Given the description of an element on the screen output the (x, y) to click on. 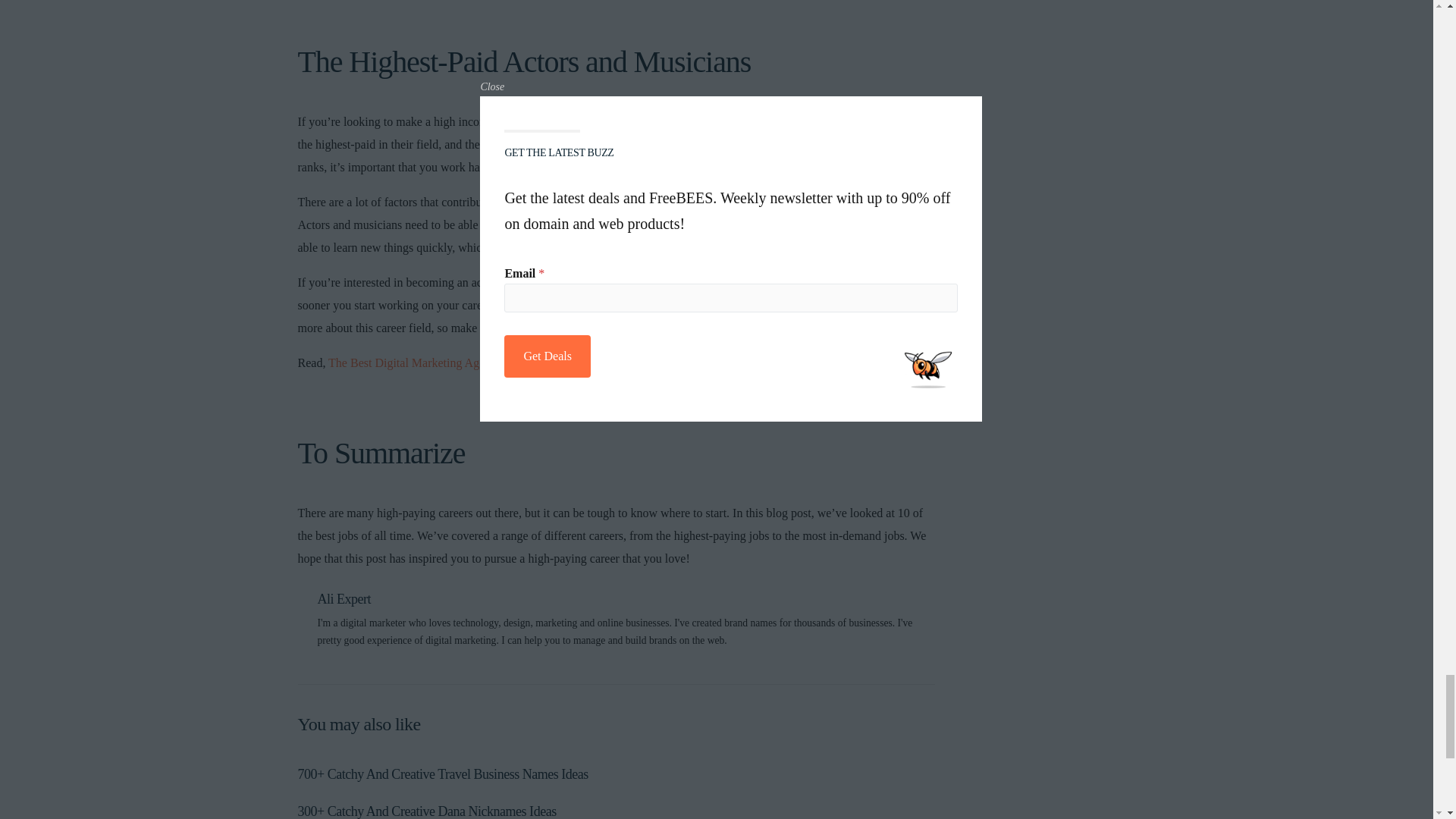
Posts by Ali Expert (344, 598)
